Given the description of an element on the screen output the (x, y) to click on. 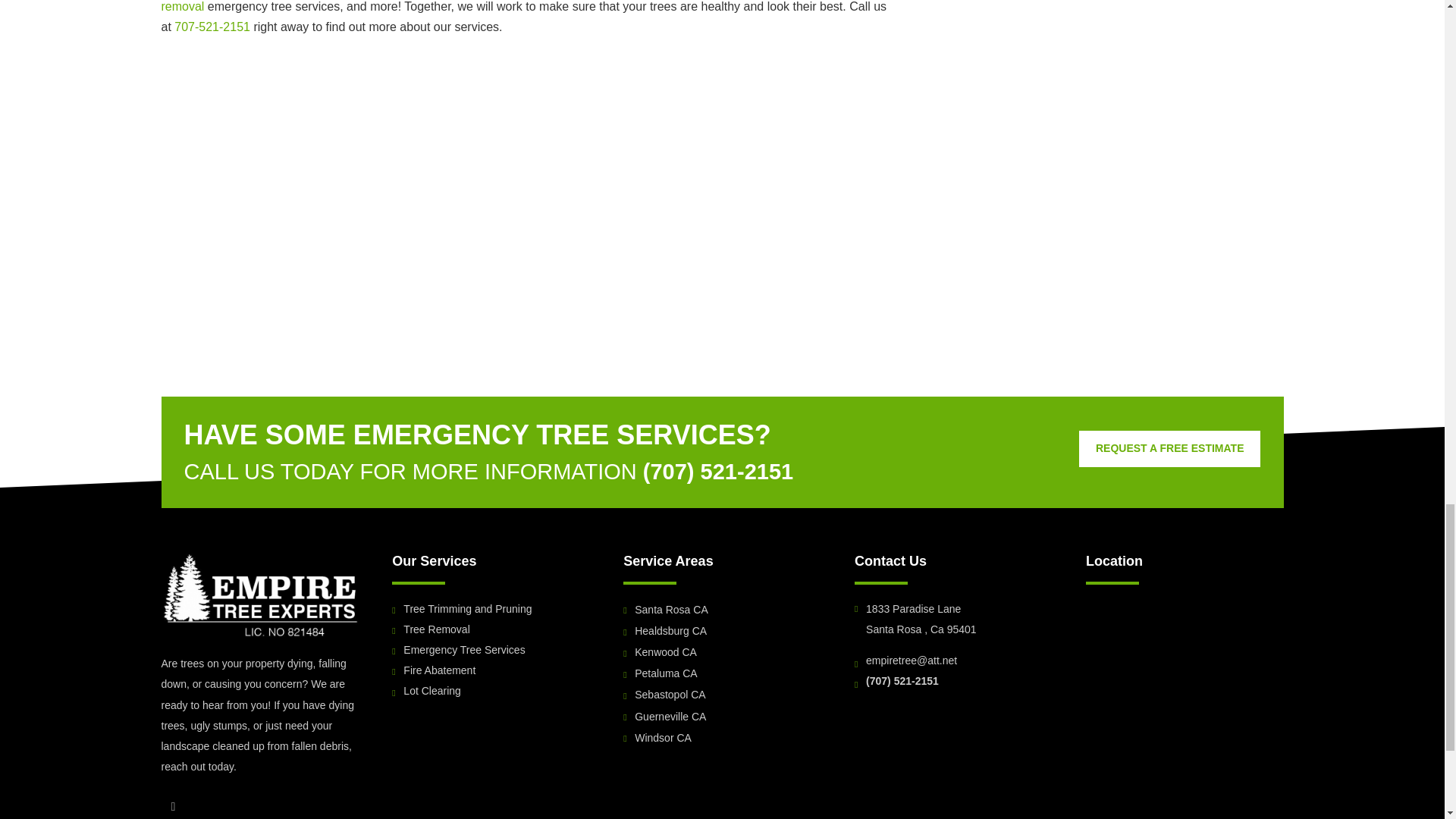
logo-w (259, 595)
Empire Tree Experts Location Map (1184, 655)
Follow on Facebook (172, 806)
